Given the description of an element on the screen output the (x, y) to click on. 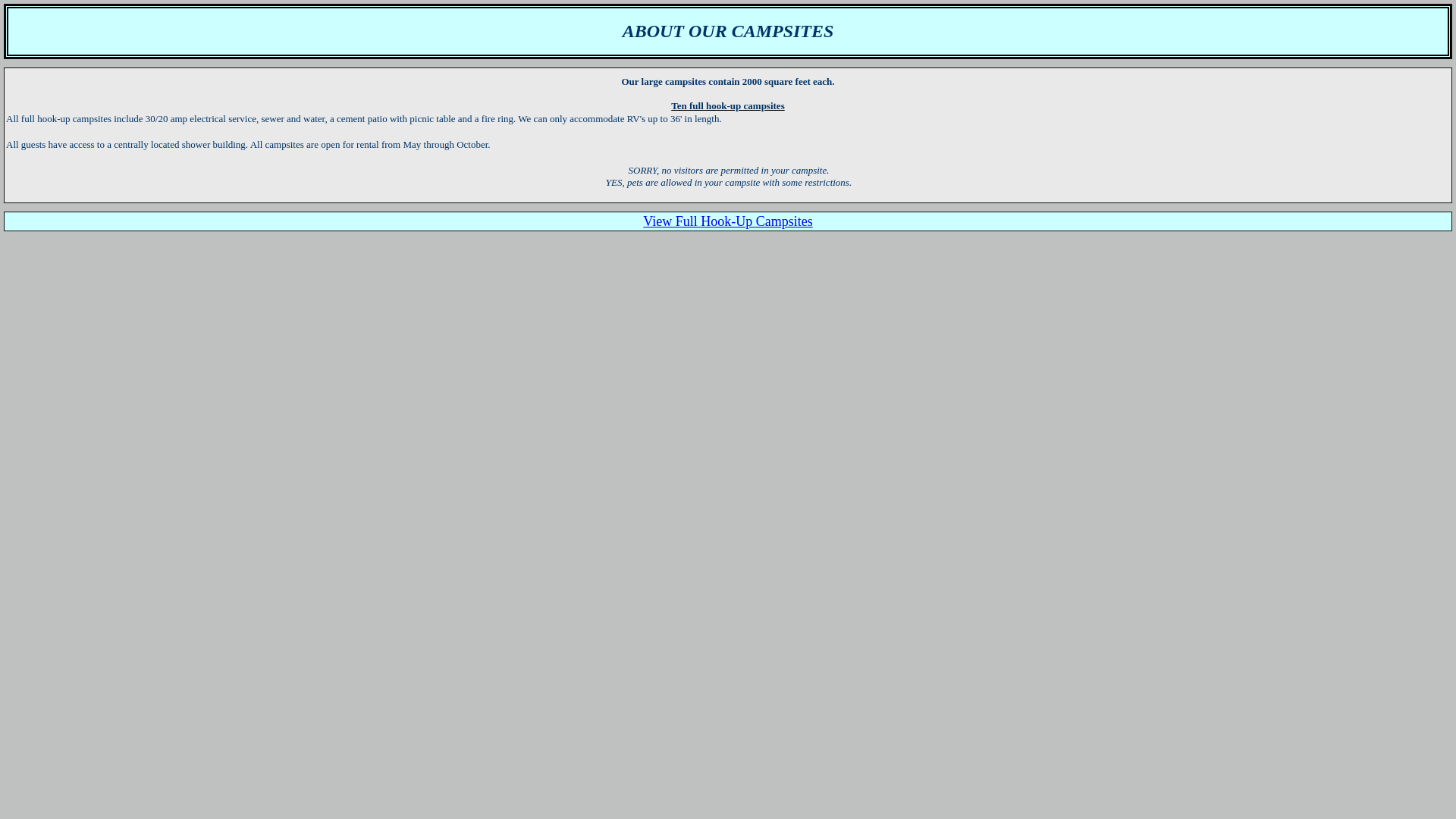
View Full Hook-Up Campsites (727, 221)
